Given the description of an element on the screen output the (x, y) to click on. 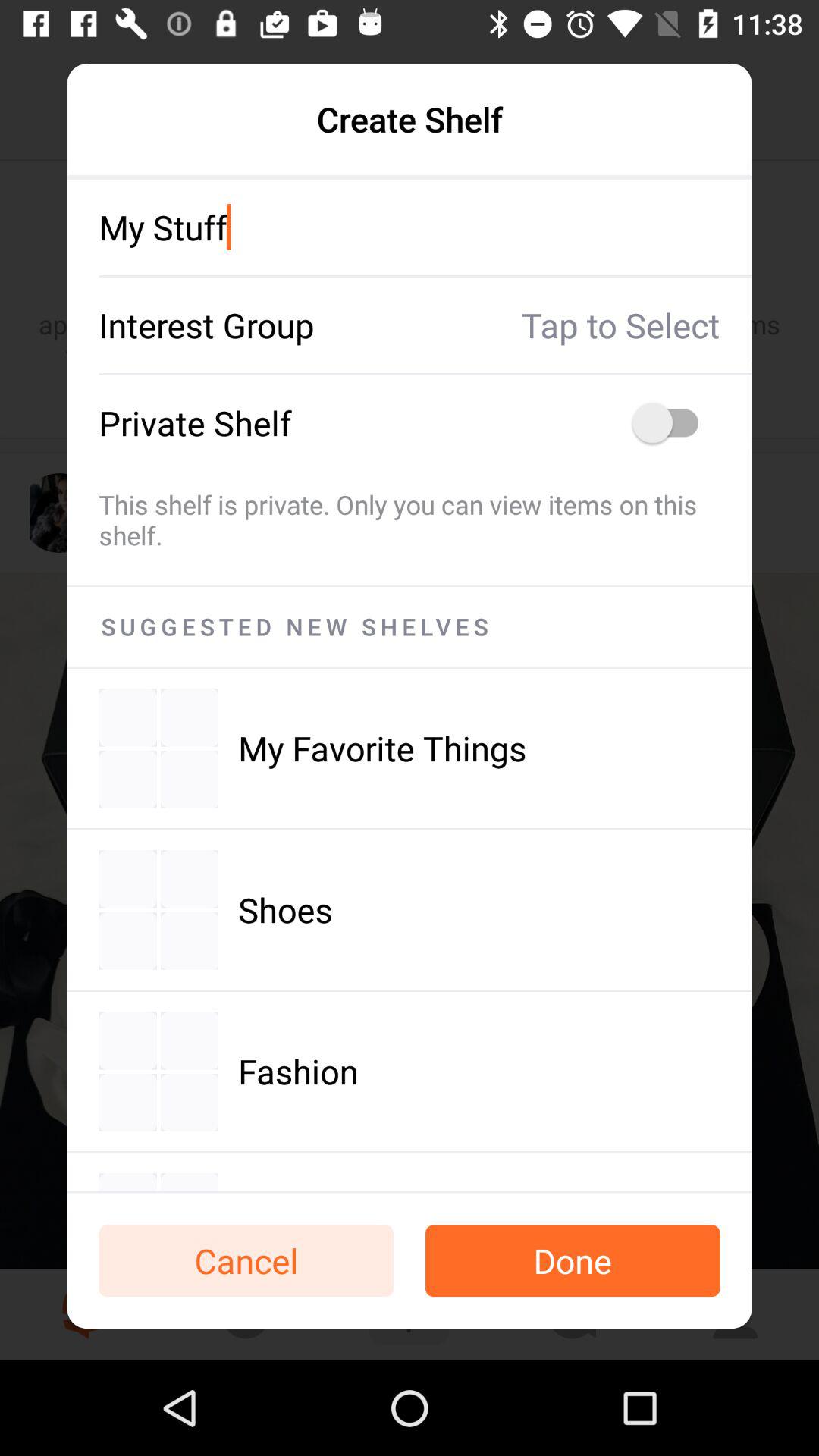
toggle on (672, 422)
